Given the description of an element on the screen output the (x, y) to click on. 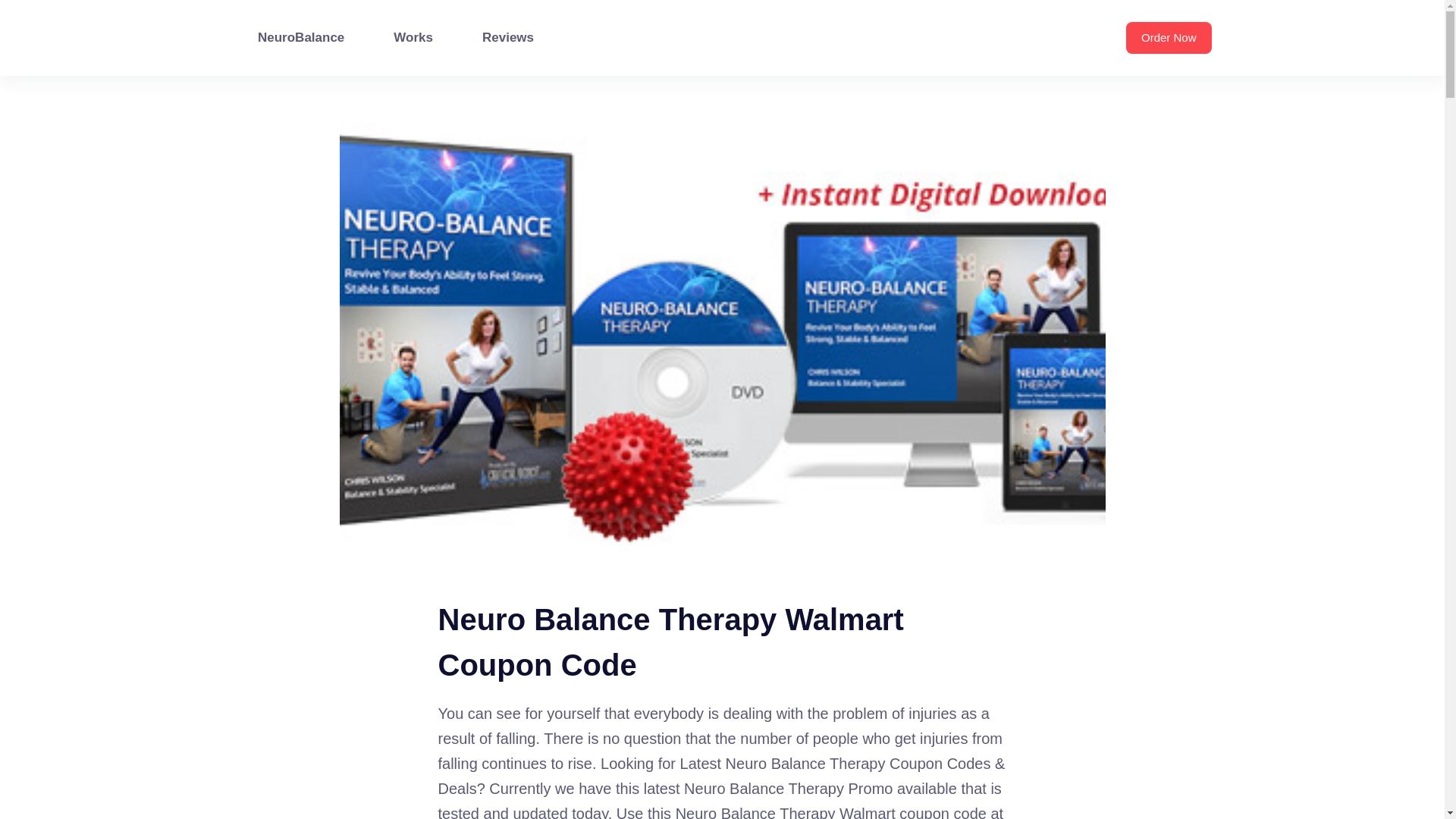
NeuroBalance (300, 38)
Order Now (1168, 38)
Skip to content (15, 7)
Works (413, 38)
Reviews (507, 38)
